Given the description of an element on the screen output the (x, y) to click on. 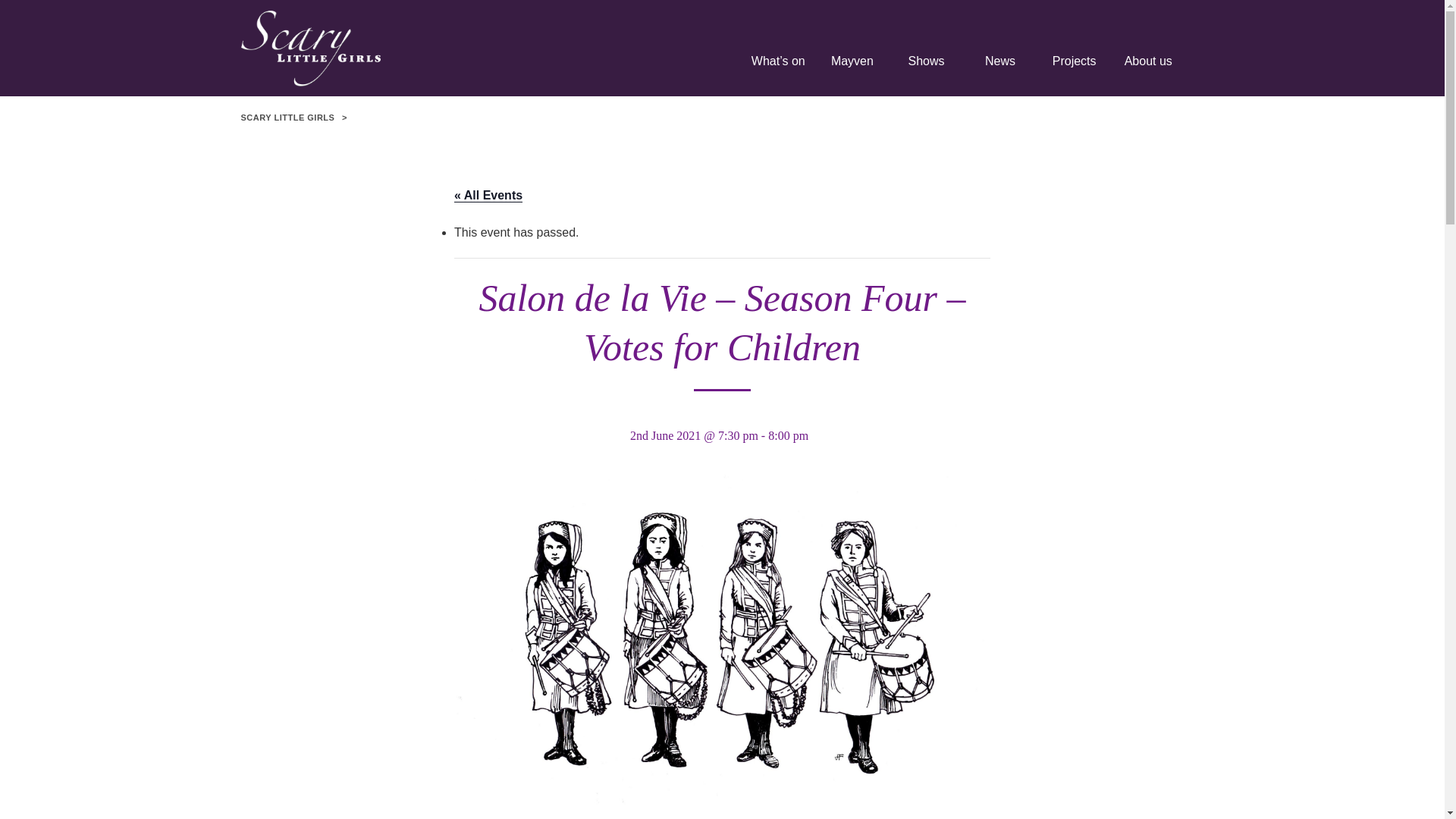
About us (1147, 66)
News (999, 66)
Projects (1074, 66)
Scary Little Girls (385, 48)
Shows (926, 66)
Mayven (852, 66)
